Given the description of an element on the screen output the (x, y) to click on. 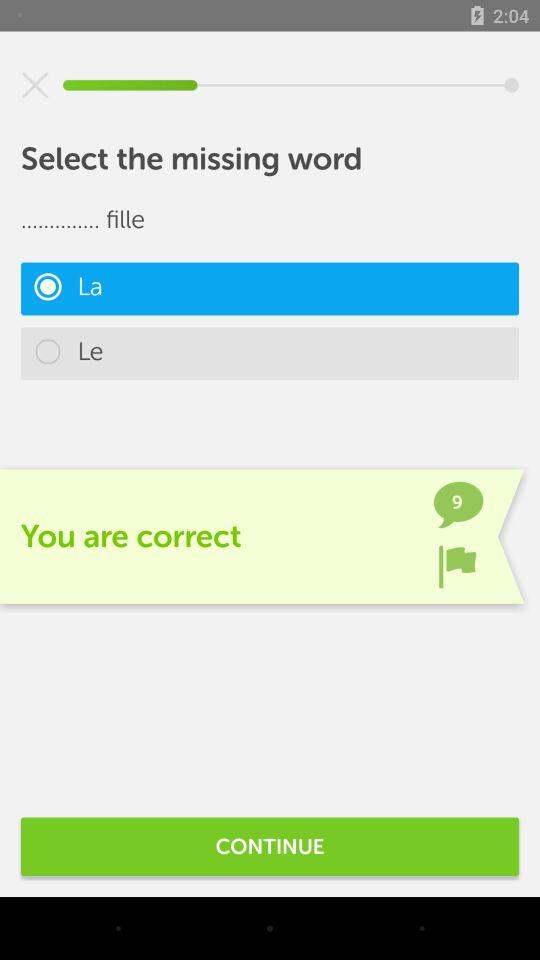
launch item above the select the missing item (35, 85)
